Given the description of an element on the screen output the (x, y) to click on. 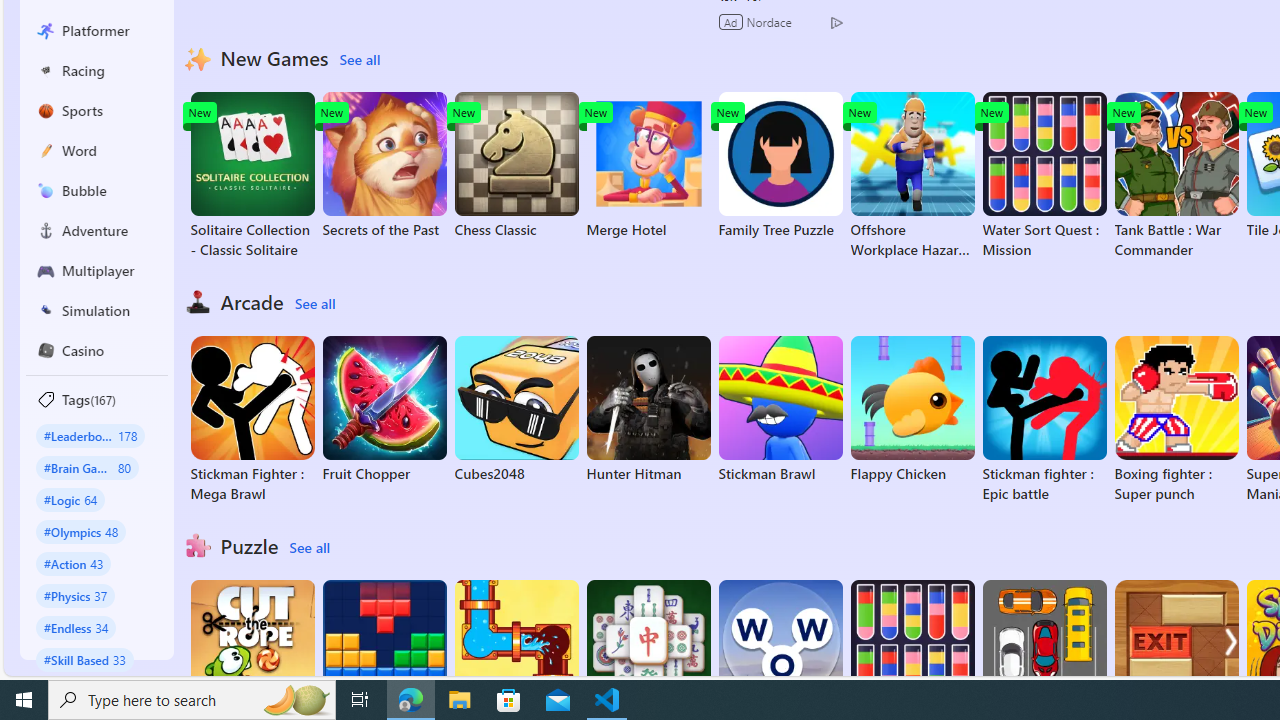
See all (309, 547)
Solitaire Collection - Classic Solitaire (251, 175)
#Leaderboard 178 (90, 435)
Fruit Chopper (384, 409)
Stickman Brawl (780, 409)
Hunter Hitman (648, 409)
Flappy Chicken (912, 409)
#Action 43 (73, 563)
#Skill Based 33 (84, 659)
Cubes2048 (516, 409)
Secrets of the Past (384, 165)
Family Tree Puzzle (780, 165)
